Given the description of an element on the screen output the (x, y) to click on. 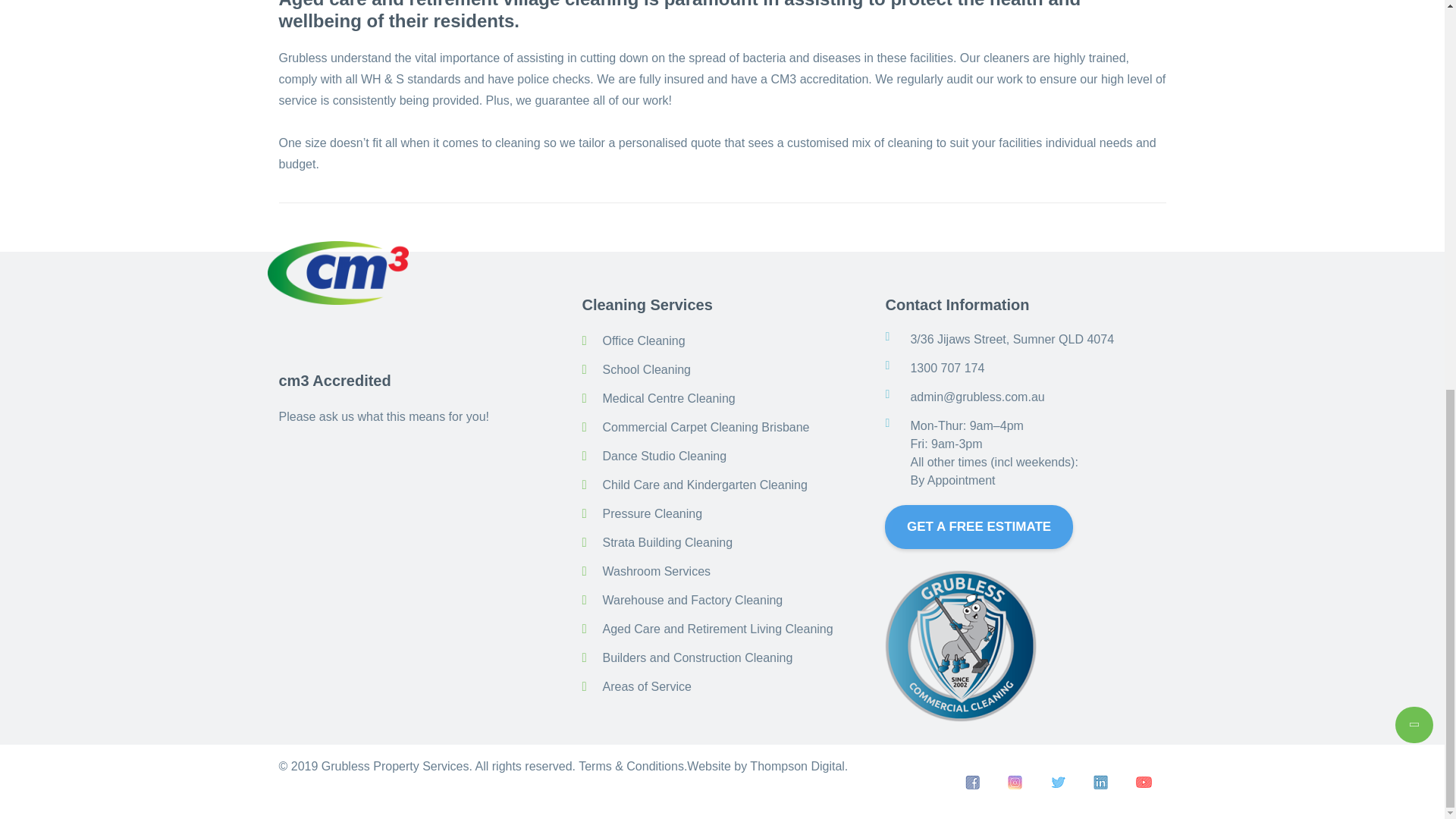
Commercial Carpet Cleaning Brisbane (705, 427)
Office Cleaning (643, 340)
Dance Studio Cleaning (664, 455)
Pressure Cleaning (651, 513)
Medical Centre Cleaning (668, 398)
School Cleaning (646, 369)
Aged Care and Retirement Living Cleaning (717, 628)
Dance Studio Cleaning (664, 455)
Medical Centre Cleaning (668, 398)
Builders and Construction Cleaning (697, 657)
Commercial Carpet Cleaning Brisbane (705, 427)
School Cleaning (646, 369)
Areas of Service (646, 686)
Strata Building Cleaning (667, 542)
Warehouse and Factory Cleaning (692, 599)
